Given the description of an element on the screen output the (x, y) to click on. 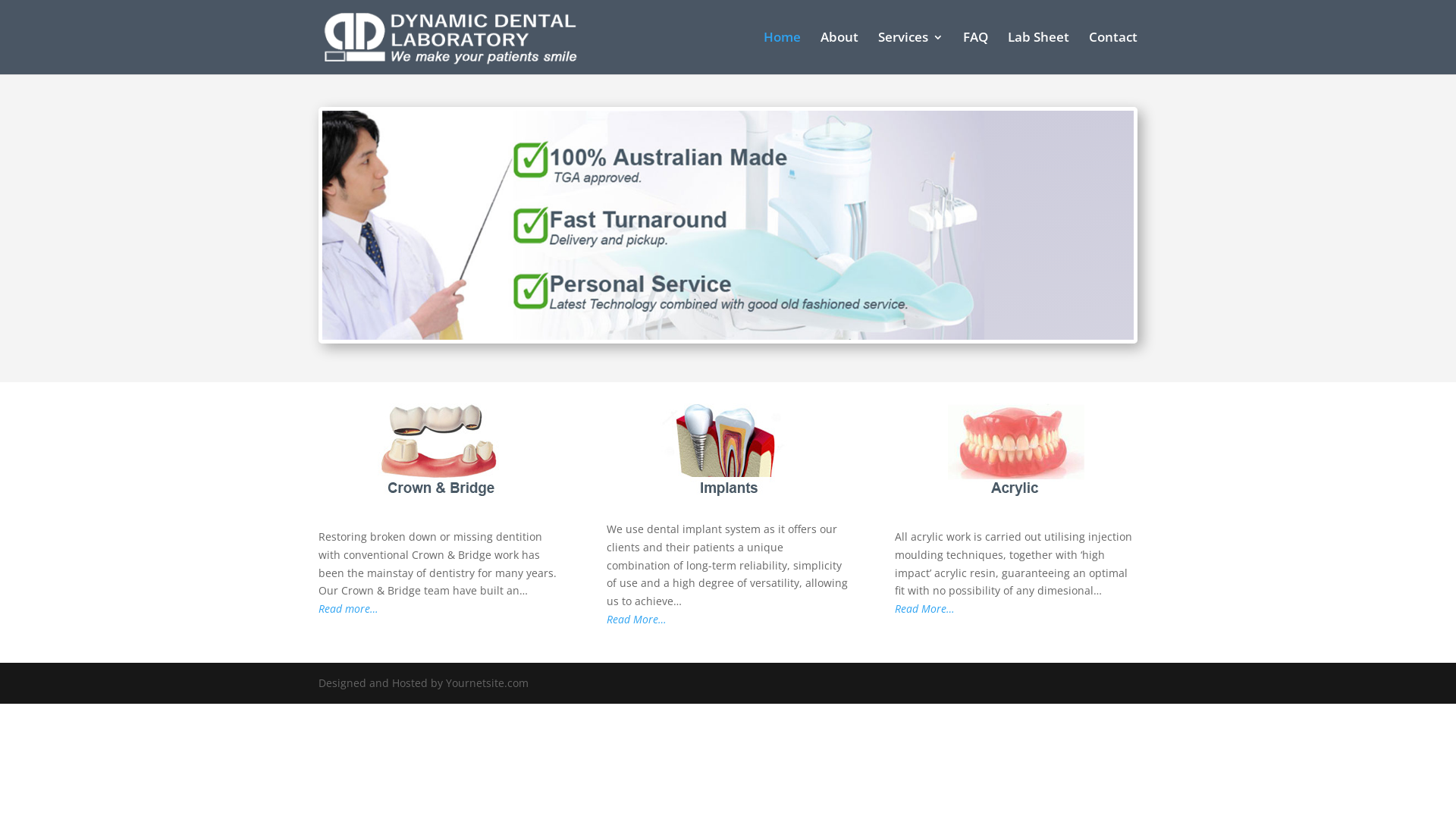
Lab Sheet Element type: text (1038, 52)
About Element type: text (839, 52)
Home Element type: text (781, 52)
Services Element type: text (910, 52)
Contact Element type: text (1112, 52)
FAQ Element type: text (975, 52)
